Given the description of an element on the screen output the (x, y) to click on. 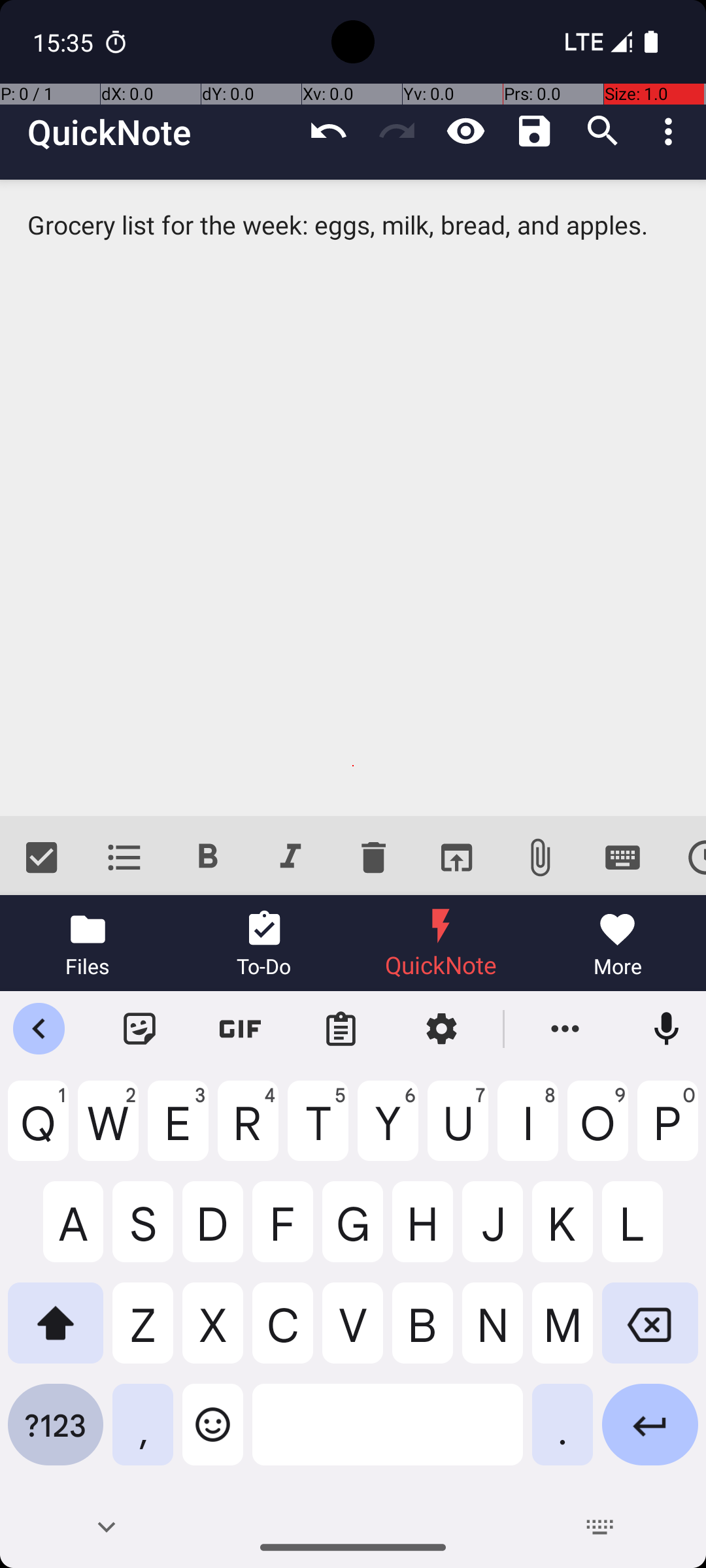
Grocery list for the week: eggs, milk, bread, and apples.
 Element type: android.widget.EditText (353, 497)
